Given the description of an element on the screen output the (x, y) to click on. 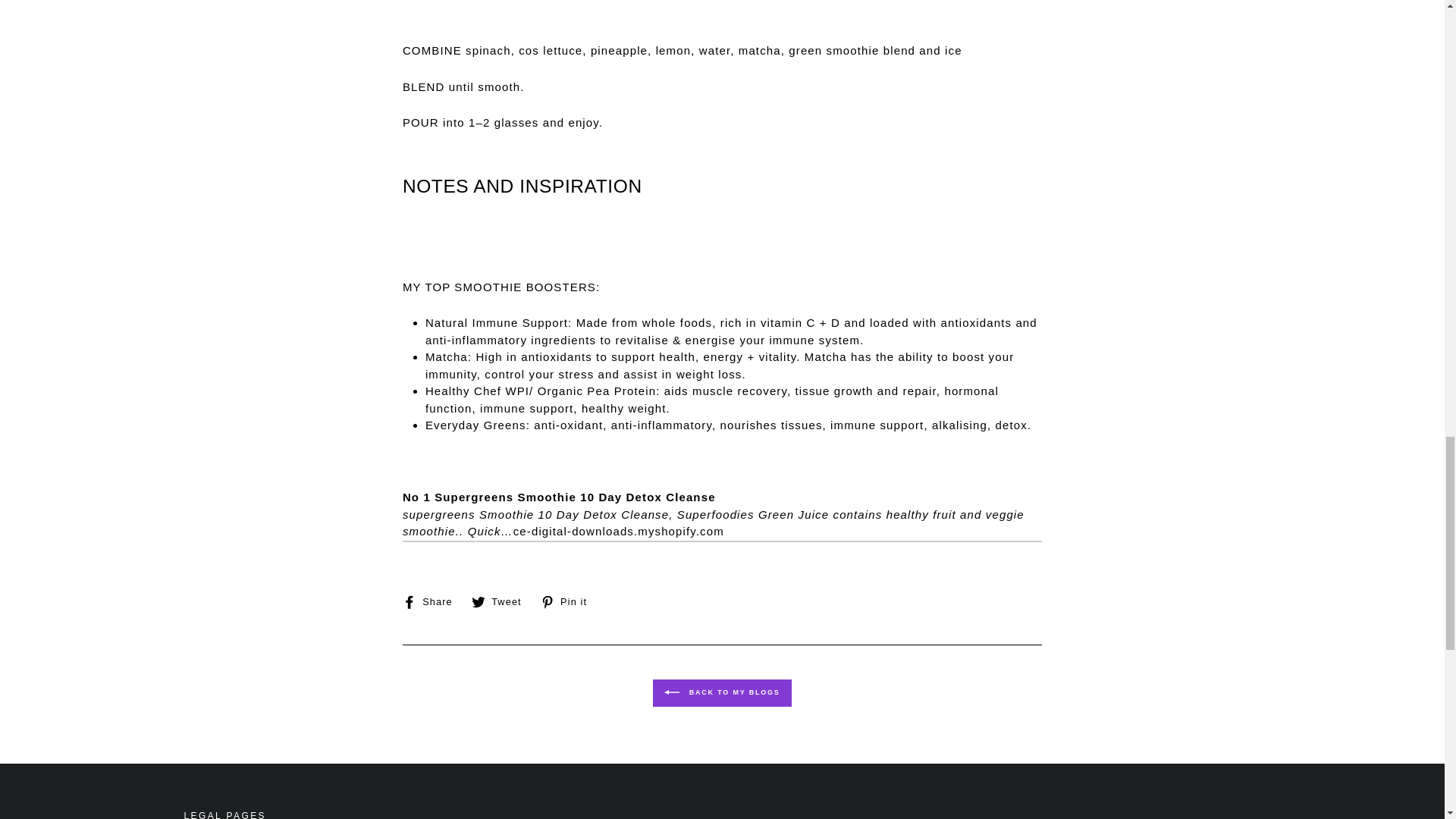
BACK TO MY BLOGS (721, 692)
Pin on Pinterest (569, 601)
Share on Facebook (501, 601)
Tweet on Twitter (569, 601)
